Given the description of an element on the screen output the (x, y) to click on. 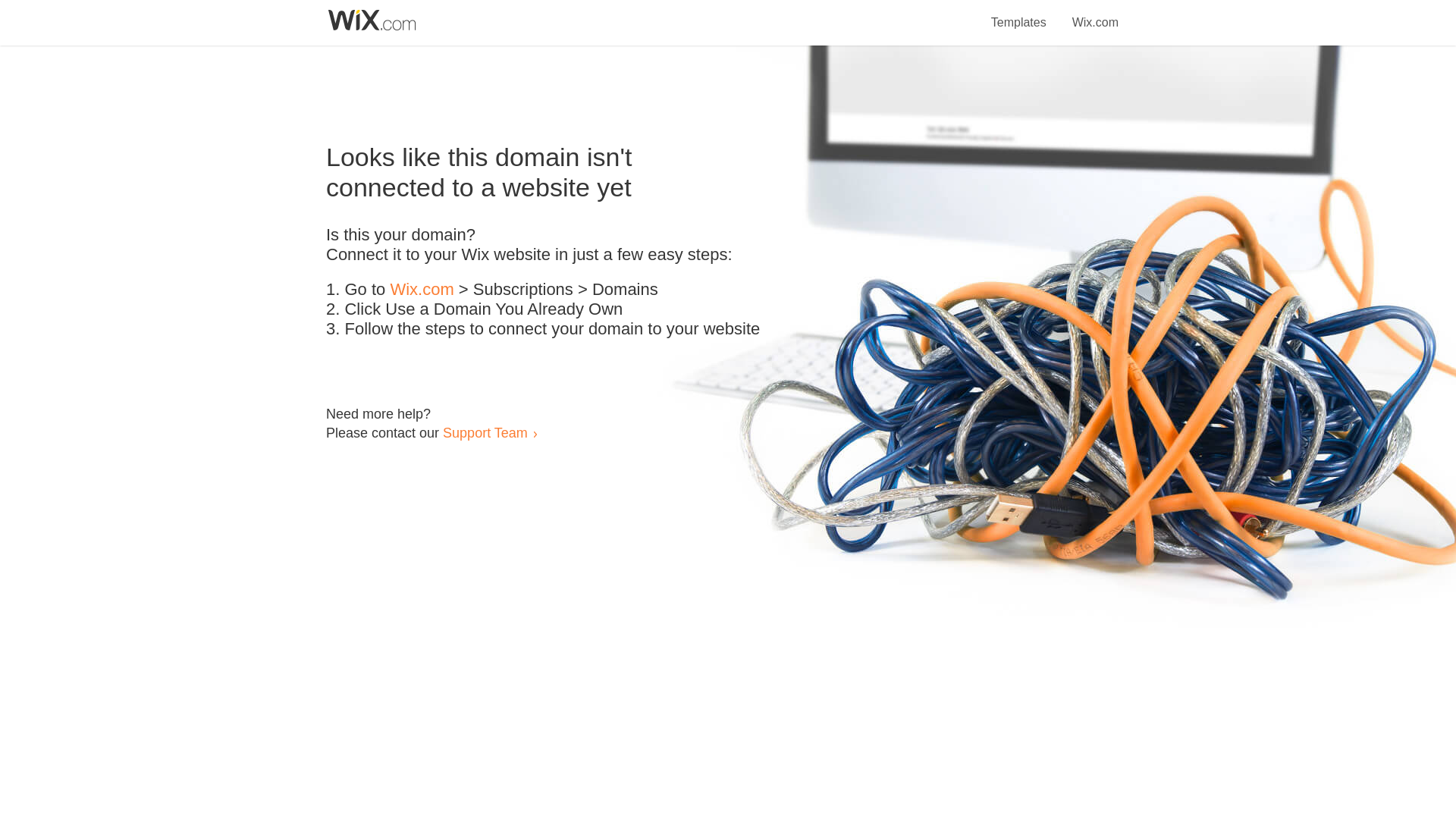
Templates (1018, 14)
Support Team (484, 432)
Wix.com (1095, 14)
Wix.com (421, 289)
